Given the description of an element on the screen output the (x, y) to click on. 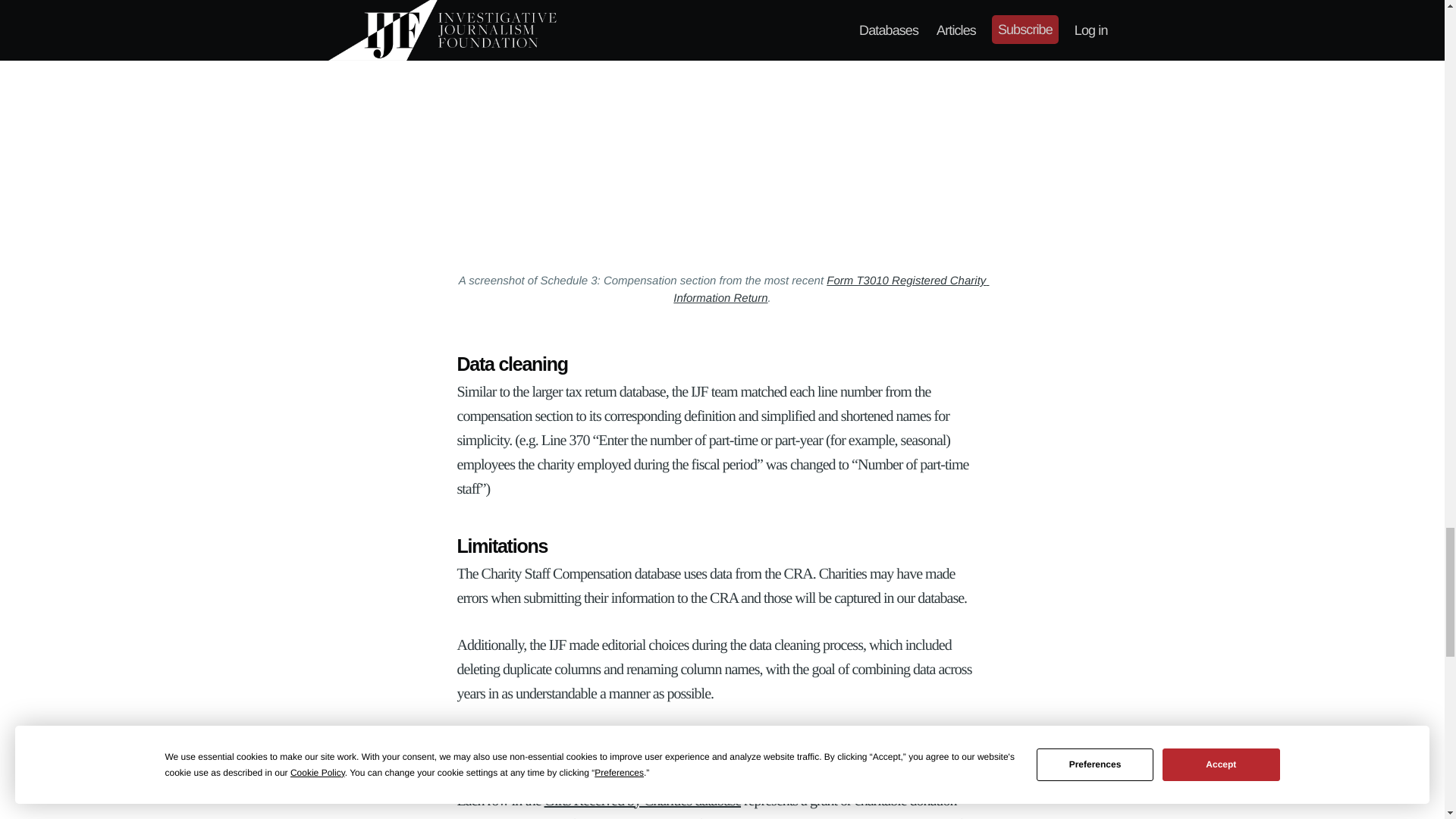
Gifts Received by Charities database (642, 800)
Form T3010 Registered Charity Information Return (830, 289)
